Given the description of an element on the screen output the (x, y) to click on. 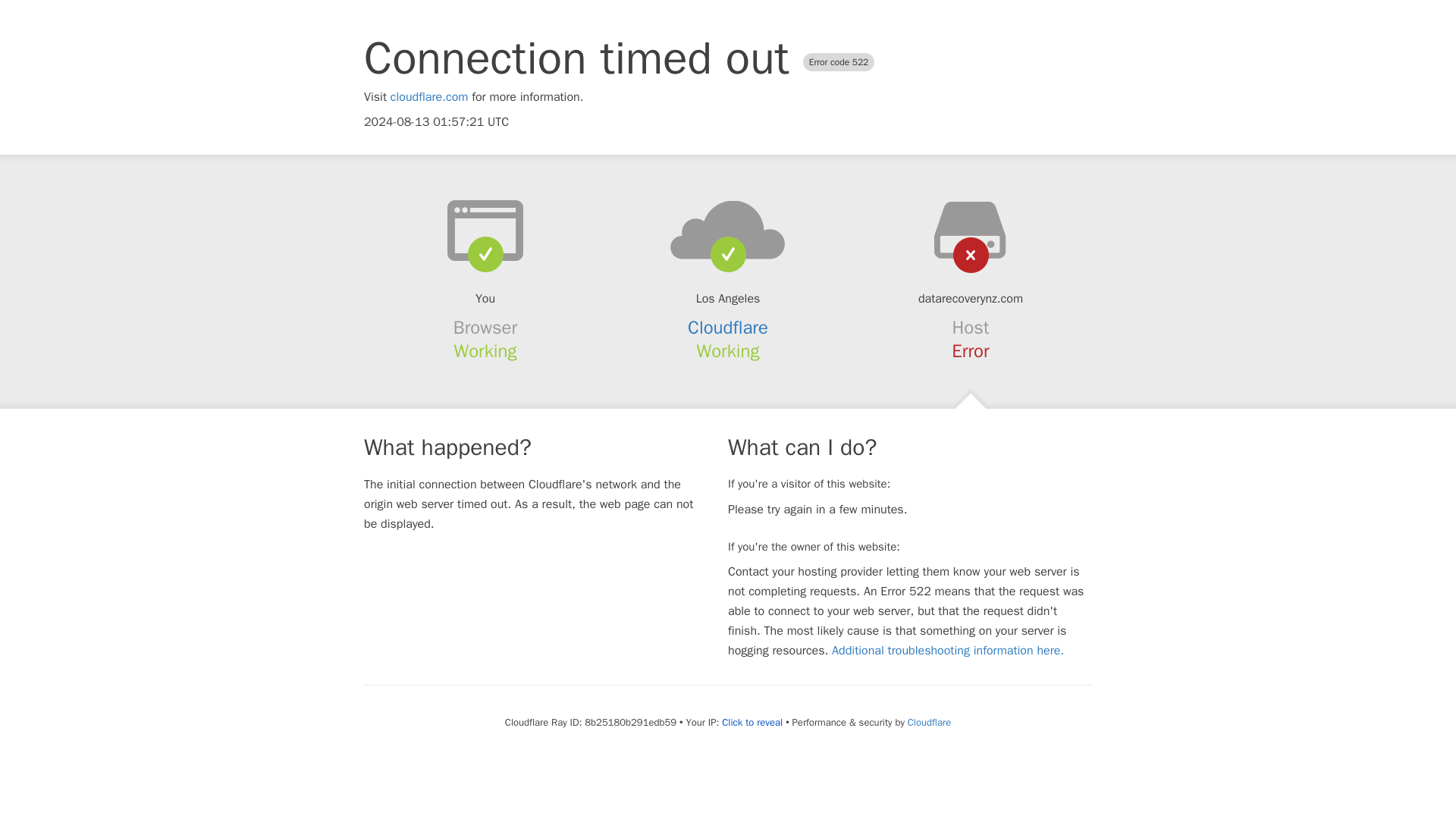
cloudflare.com (429, 96)
Click to reveal (752, 722)
Cloudflare (928, 721)
Cloudflare (727, 327)
Additional troubleshooting information here. (947, 650)
